Given the description of an element on the screen output the (x, y) to click on. 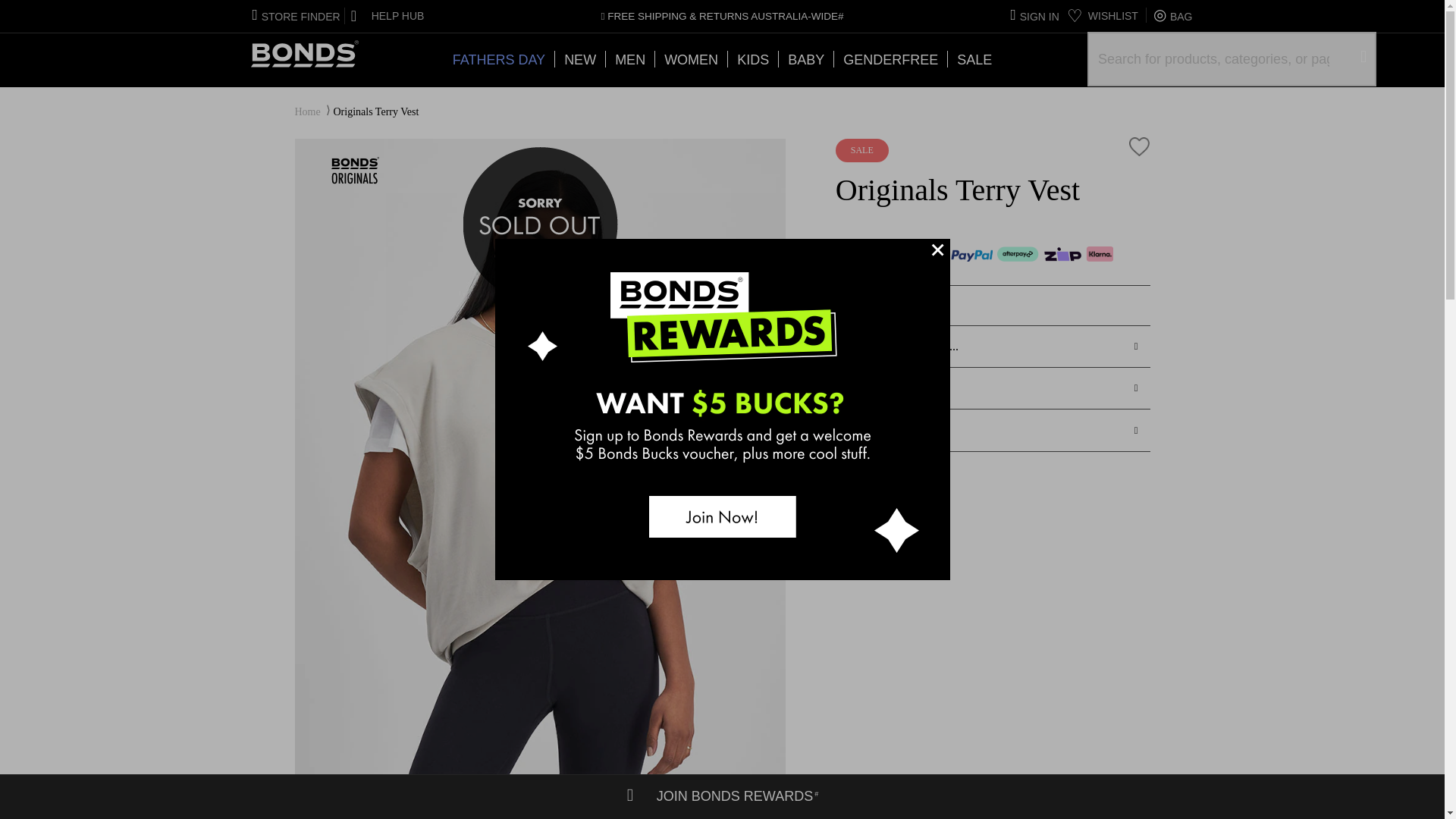
WISHLIST (1102, 15)
BAG (1172, 16)
SIGN IN (1034, 16)
FATHERS DAY (499, 58)
MEN (629, 58)
STORE FINDER (295, 16)
HELP HUB (385, 15)
NEW (579, 58)
